Given the description of an element on the screen output the (x, y) to click on. 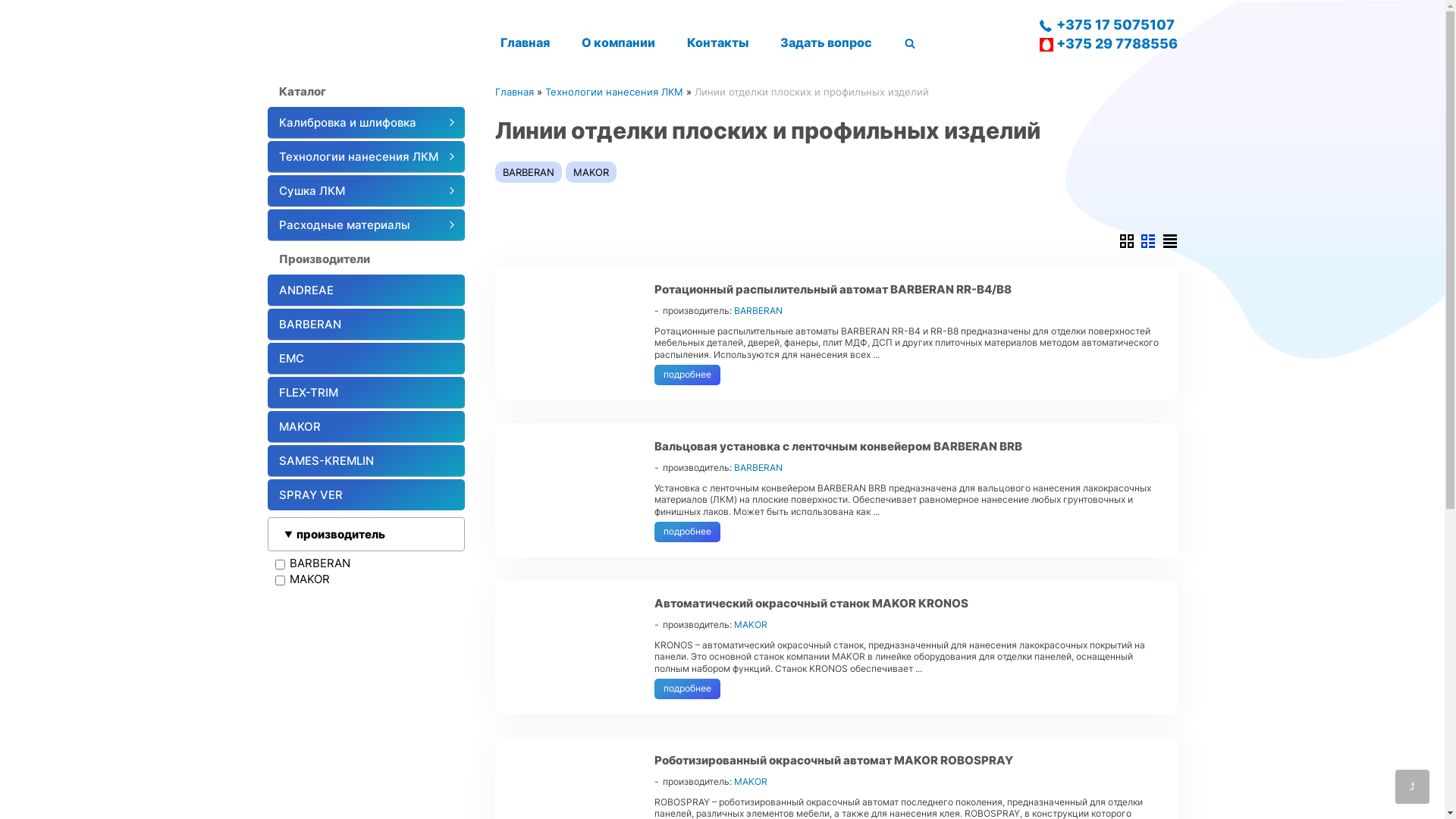
BARBERAN Element type: text (365, 324)
MAKOR Element type: text (750, 781)
+375 17 5075107 Element type: text (1107, 24)
BARBERAN Element type: text (527, 171)
SAMES-KREMLIN Element type: text (365, 460)
MAKOR Element type: text (365, 426)
BARBERAN Element type: text (758, 467)
SPRAY VER Element type: text (365, 494)
BARBERAN Element type: text (758, 310)
+375 29 7788556 Element type: text (1107, 43)
ANDREAE Element type: text (365, 290)
EMC Element type: text (365, 358)
MAKOR Element type: text (750, 624)
MAKOR Element type: text (590, 171)
FLEX-TRIM Element type: text (365, 392)
